Given the description of an element on the screen output the (x, y) to click on. 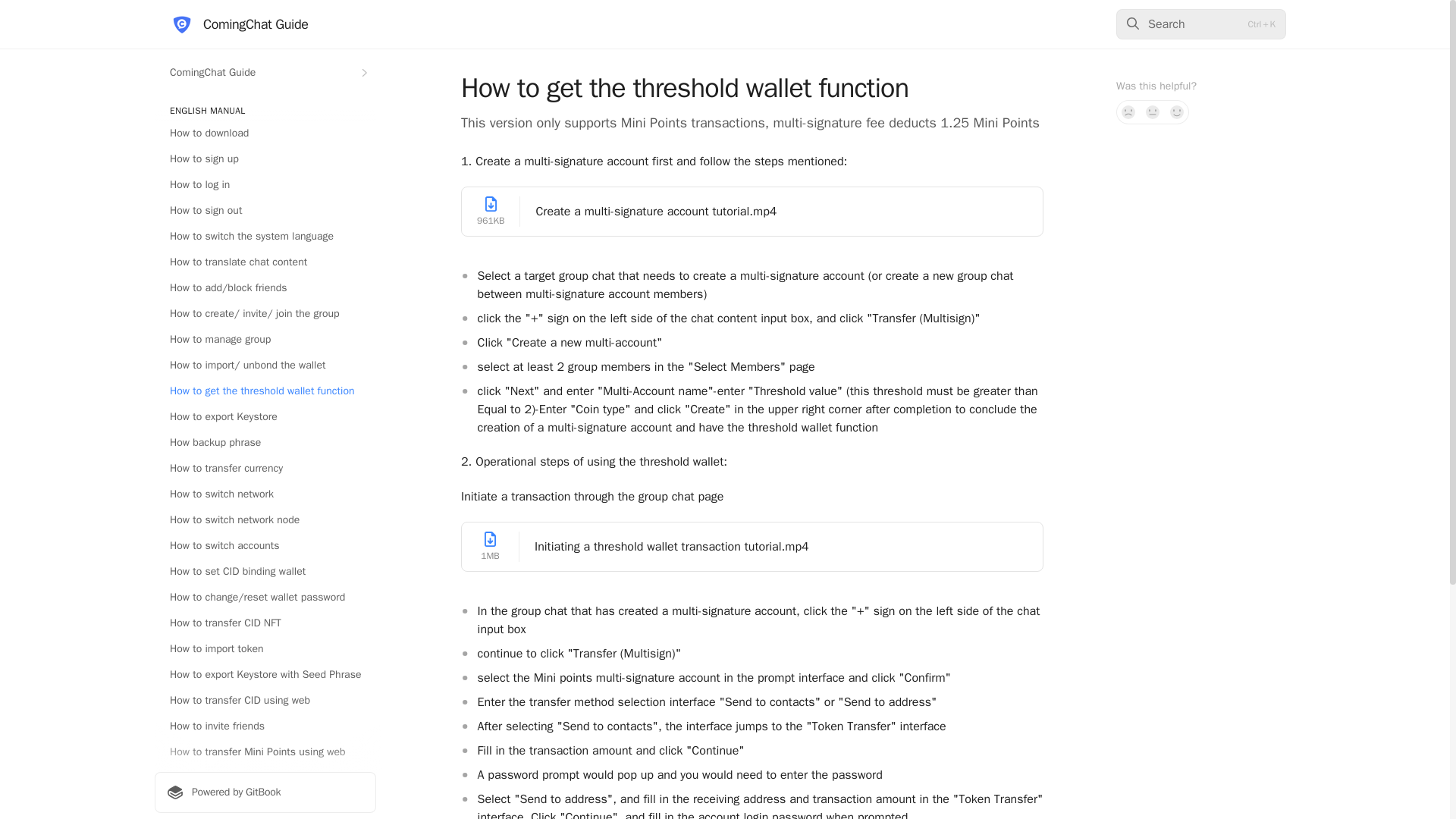
How to download (264, 133)
How to transfer Mini Points using web (264, 752)
Yes, it was! (1176, 111)
How to invite friends (264, 726)
How to import token (264, 648)
ComingChat Guide (238, 24)
How to log in (264, 184)
How to switch the system language (264, 236)
How to sign out (264, 210)
How to register 5-digit CID (264, 803)
